Given the description of an element on the screen output the (x, y) to click on. 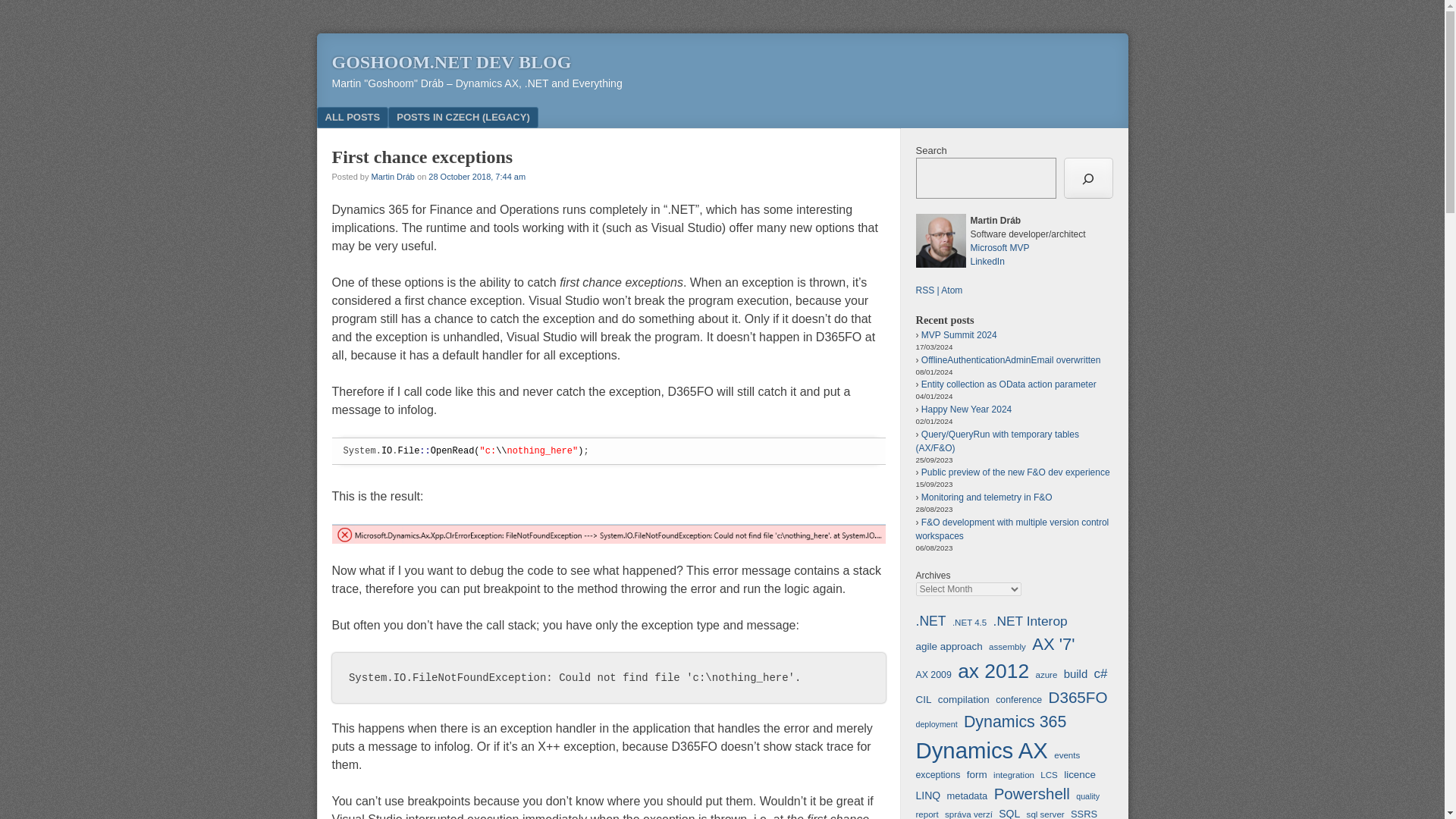
MVP Summit 2024 (959, 335)
AX '7' (1053, 643)
Microsoft MVP (1000, 247)
azure (1046, 675)
Goshoom.NET Dev Blog (451, 62)
28 October 2018, 7:44 am (476, 175)
AX 2009 (933, 675)
ALL POSTS (352, 117)
agile approach (948, 646)
assembly (1007, 646)
